Given the description of an element on the screen output the (x, y) to click on. 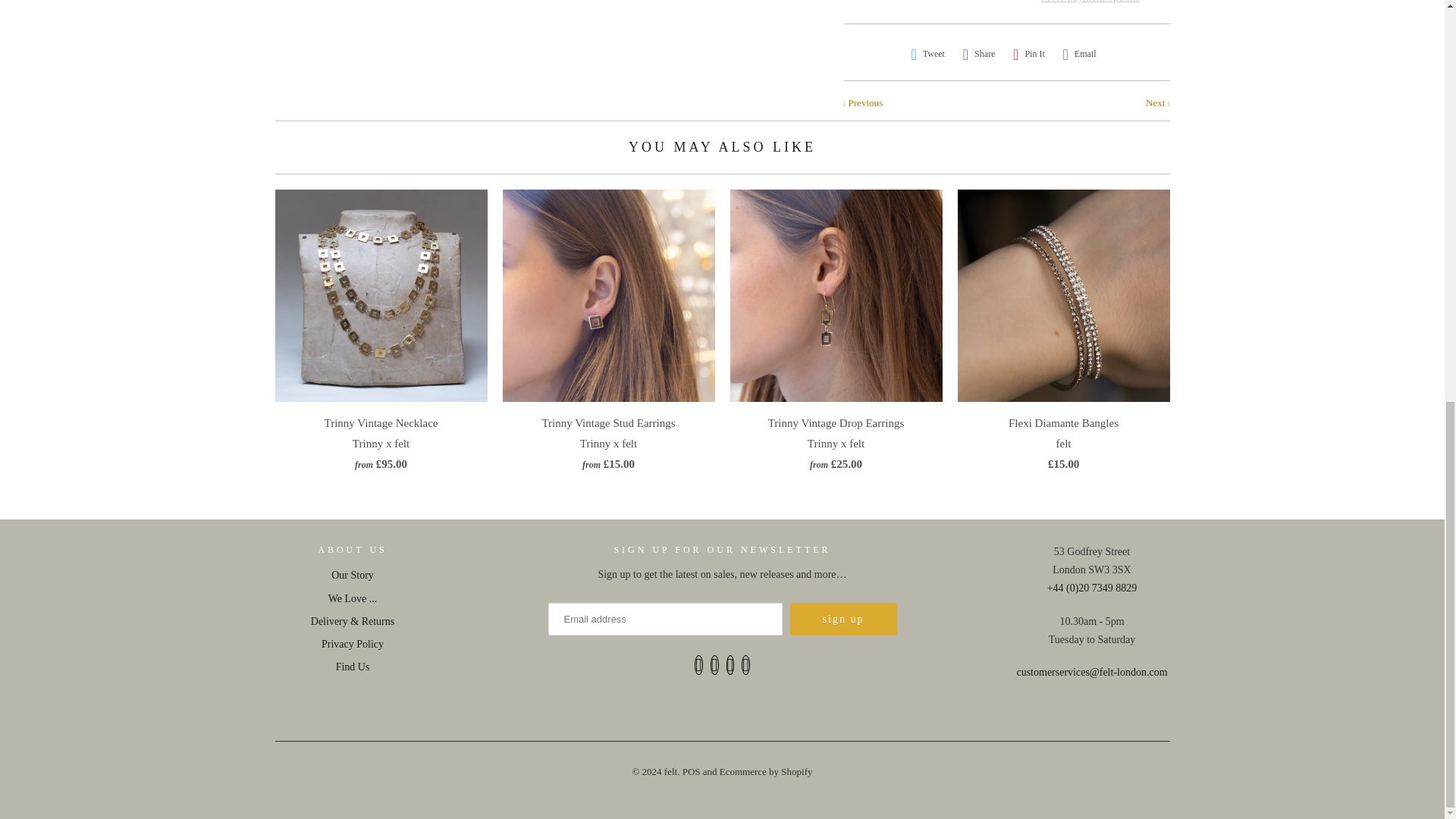
Share this on Facebook (979, 53)
Share this on Twitter (928, 53)
Share this on Pinterest (1029, 53)
Email this to a friend (1079, 53)
Sign Up (843, 618)
